Given the description of an element on the screen output the (x, y) to click on. 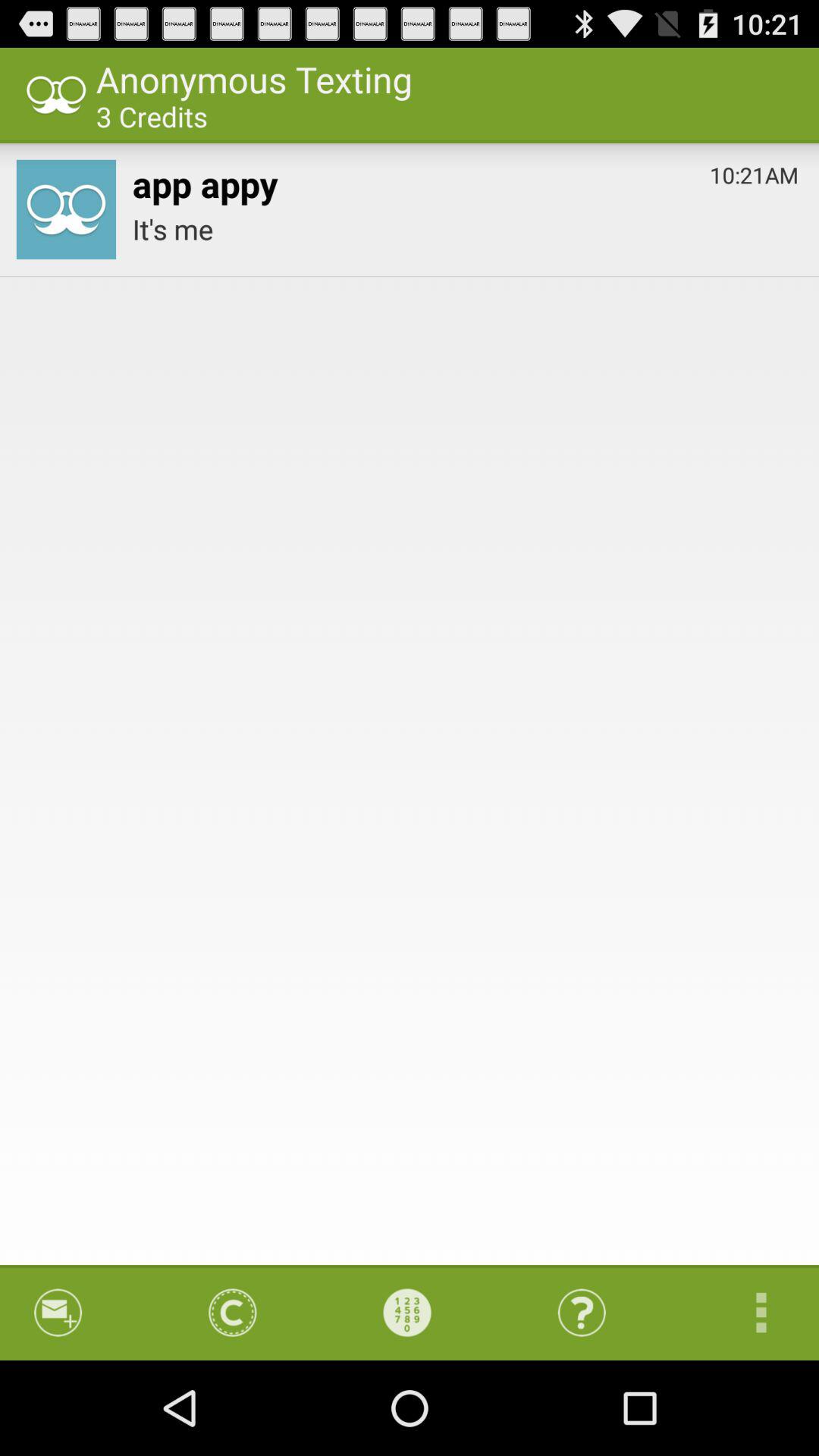
scroll until 10:21am (753, 171)
